Given the description of an element on the screen output the (x, y) to click on. 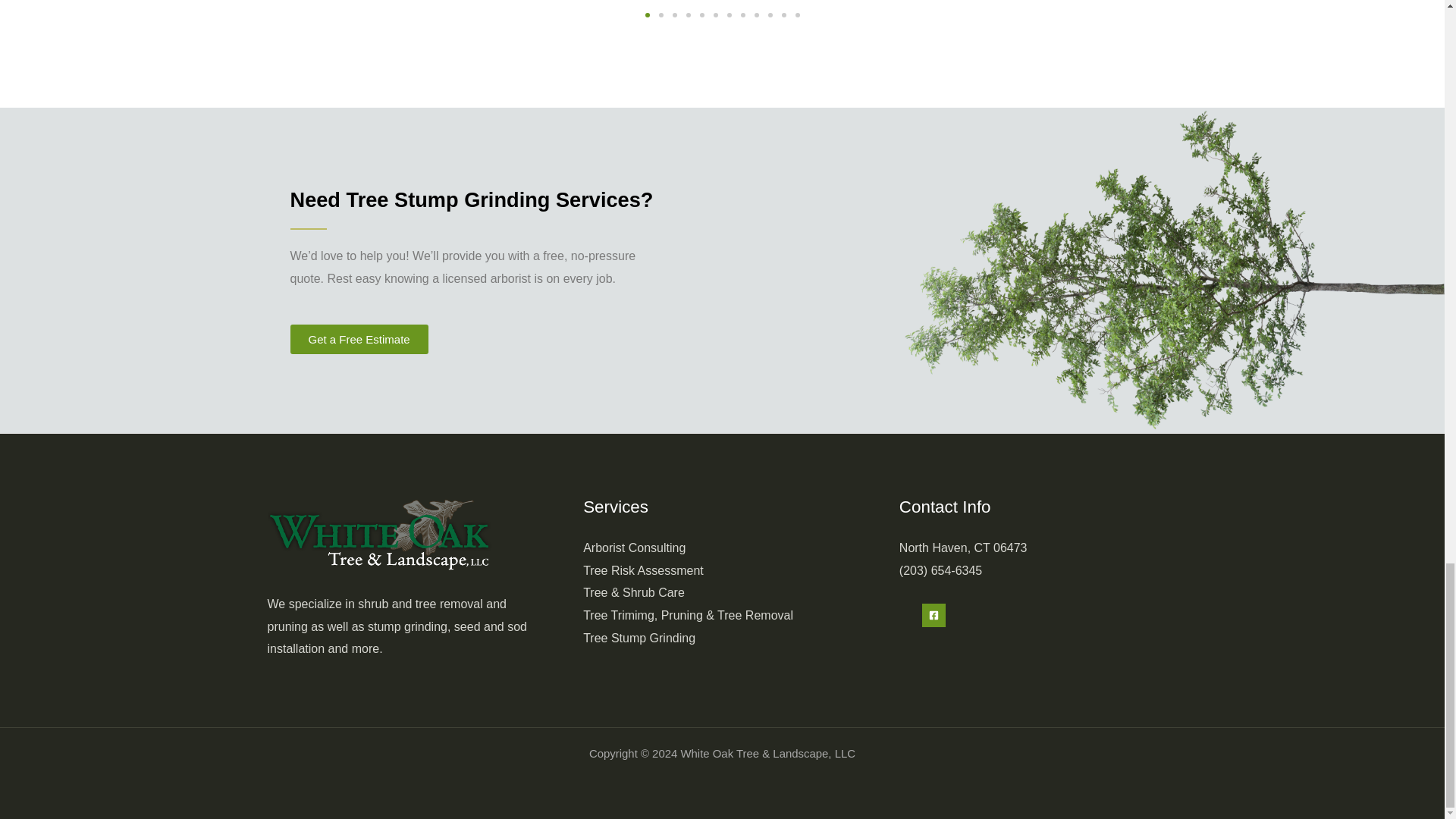
Get a Free Estimate (358, 338)
Arborist Consulting (634, 547)
